Given the description of an element on the screen output the (x, y) to click on. 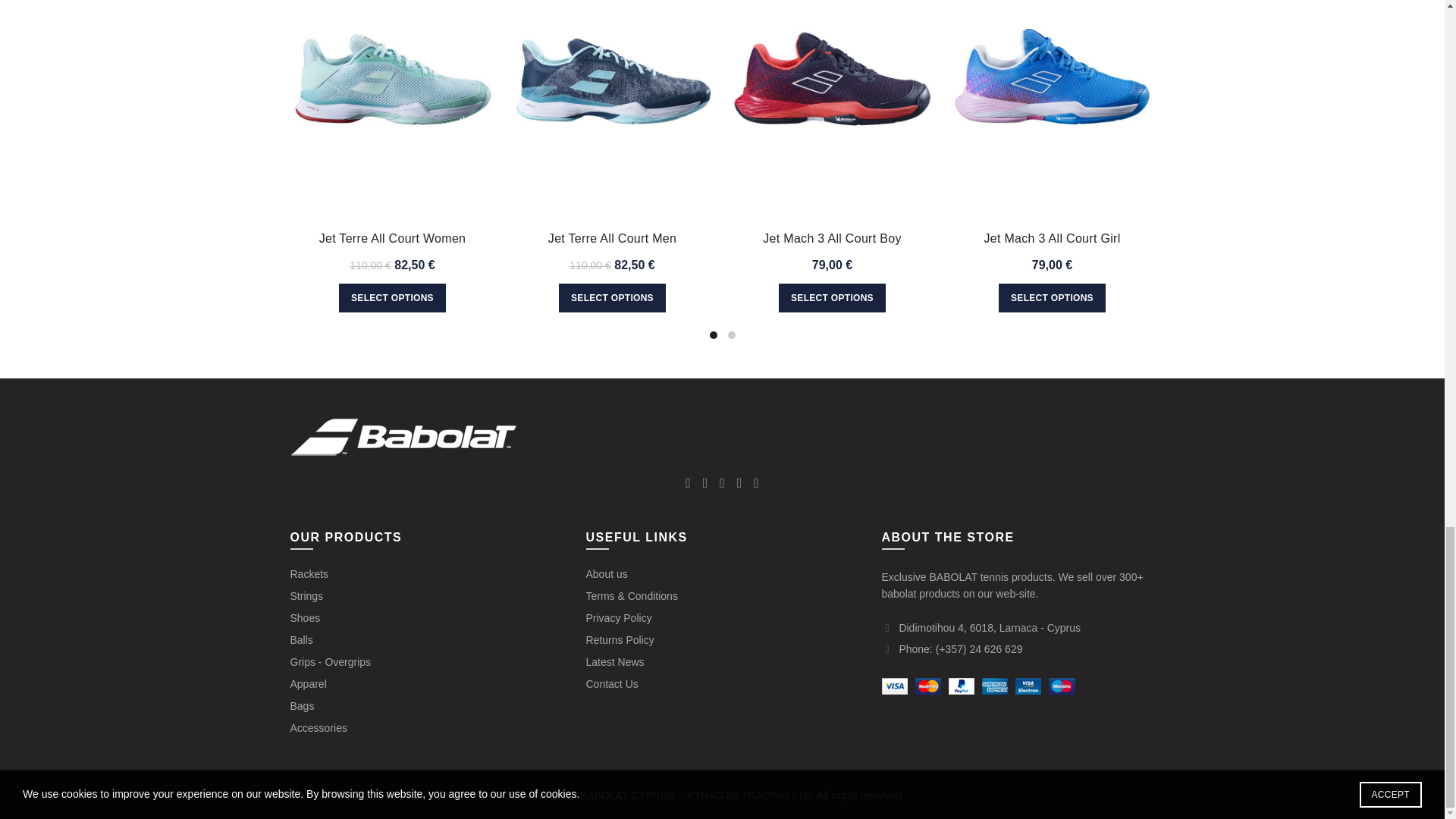
Babolat Cyprus (402, 436)
